Given the description of an element on the screen output the (x, y) to click on. 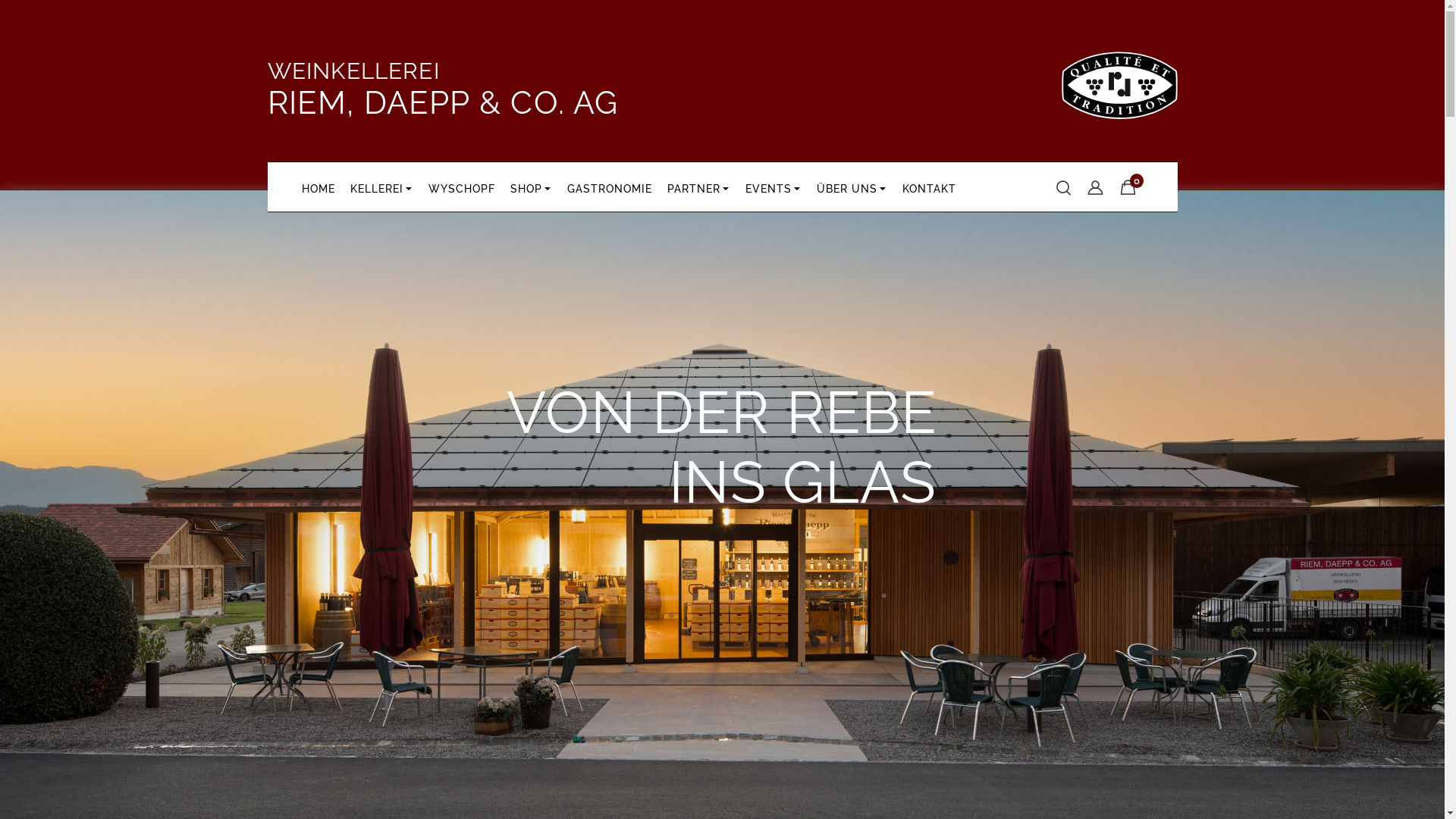
SHOP Element type: text (530, 186)
0 Element type: text (1124, 186)
GASTRONOMIE Element type: text (609, 186)
HOME Element type: text (318, 186)
PARTNER Element type: text (698, 186)
WYSCHOPF Element type: text (461, 186)
WEINKELLEREI
RIEM, DAEPP & CO. AG Element type: text (442, 92)
KELLEREI Element type: text (381, 186)
EVENTS Element type: text (772, 186)
KONTAKT Element type: text (928, 186)
